Given the description of an element on the screen output the (x, y) to click on. 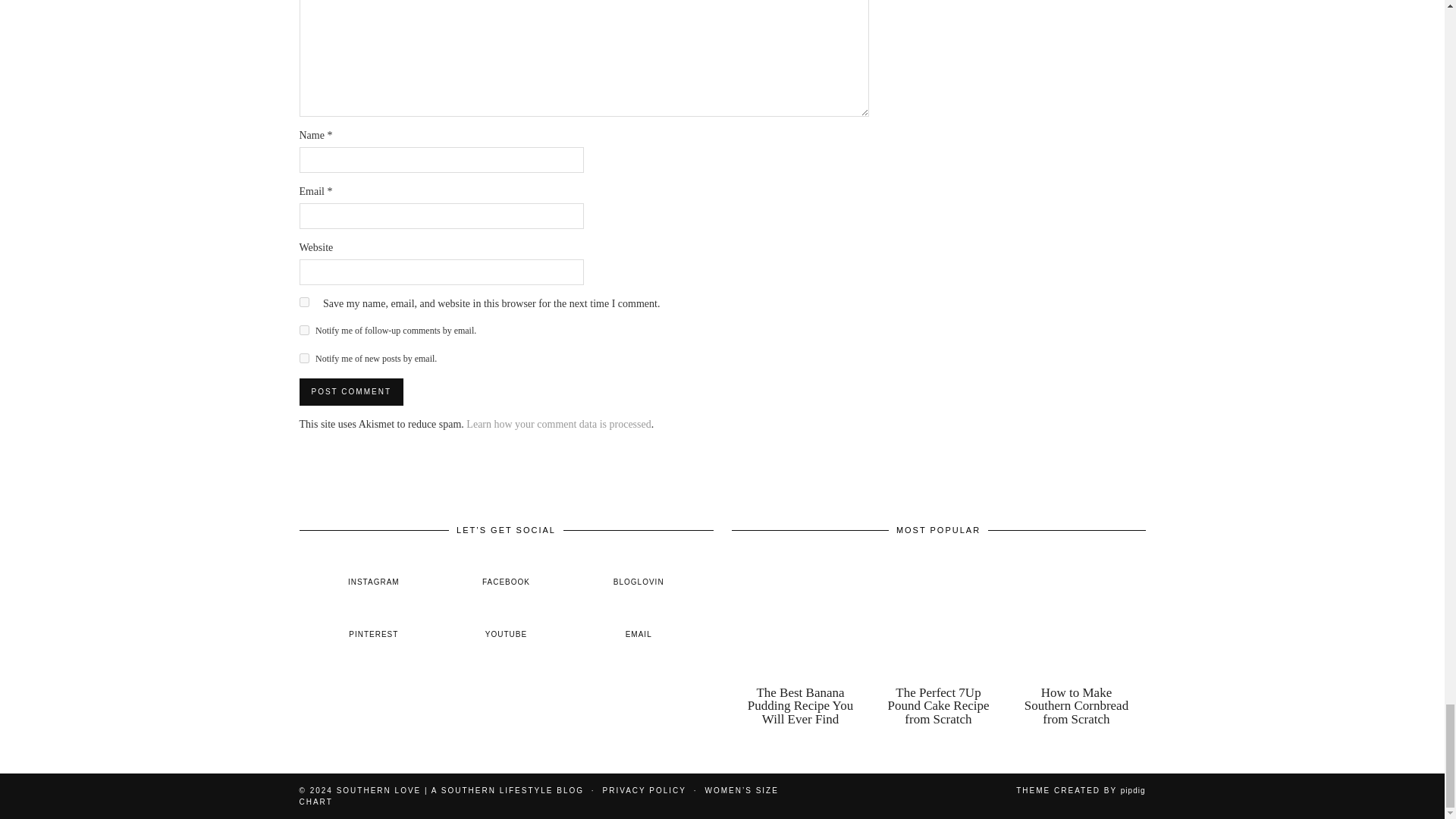
Post Comment (350, 391)
yes (303, 302)
subscribe (303, 357)
subscribe (303, 329)
